Given the description of an element on the screen output the (x, y) to click on. 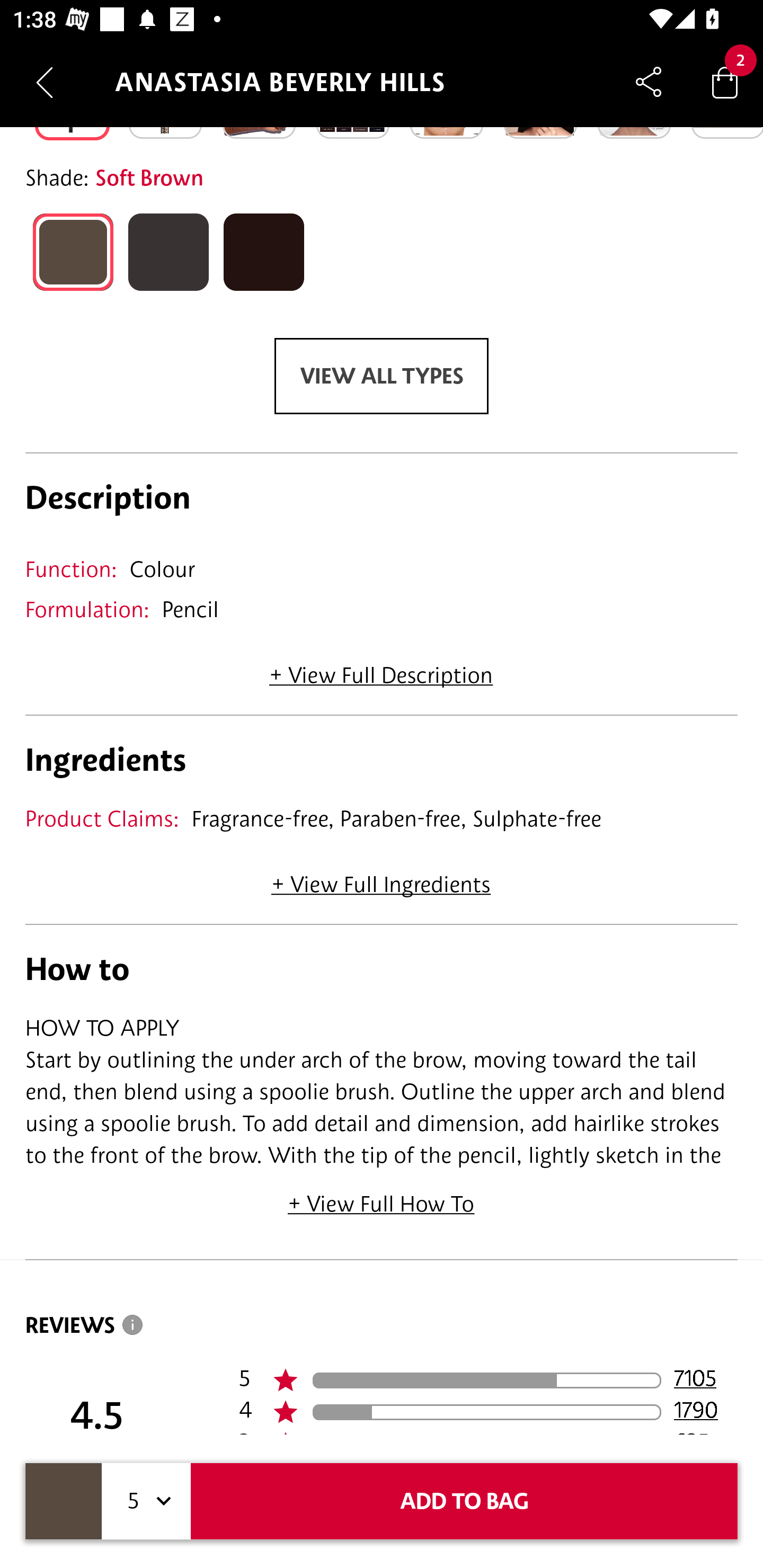
Navigate up (44, 82)
Share (648, 81)
Bag (724, 81)
VIEW ALL TYPES (381, 375)
+ View Full Description (380, 669)
+ View Full Ingredients (380, 877)
+ View Full How To (381, 1197)
5 70.0 7105 (487, 1380)
4 17.0 1790 (487, 1412)
5 (145, 1500)
ADD TO BAG (463, 1500)
